Given the description of an element on the screen output the (x, y) to click on. 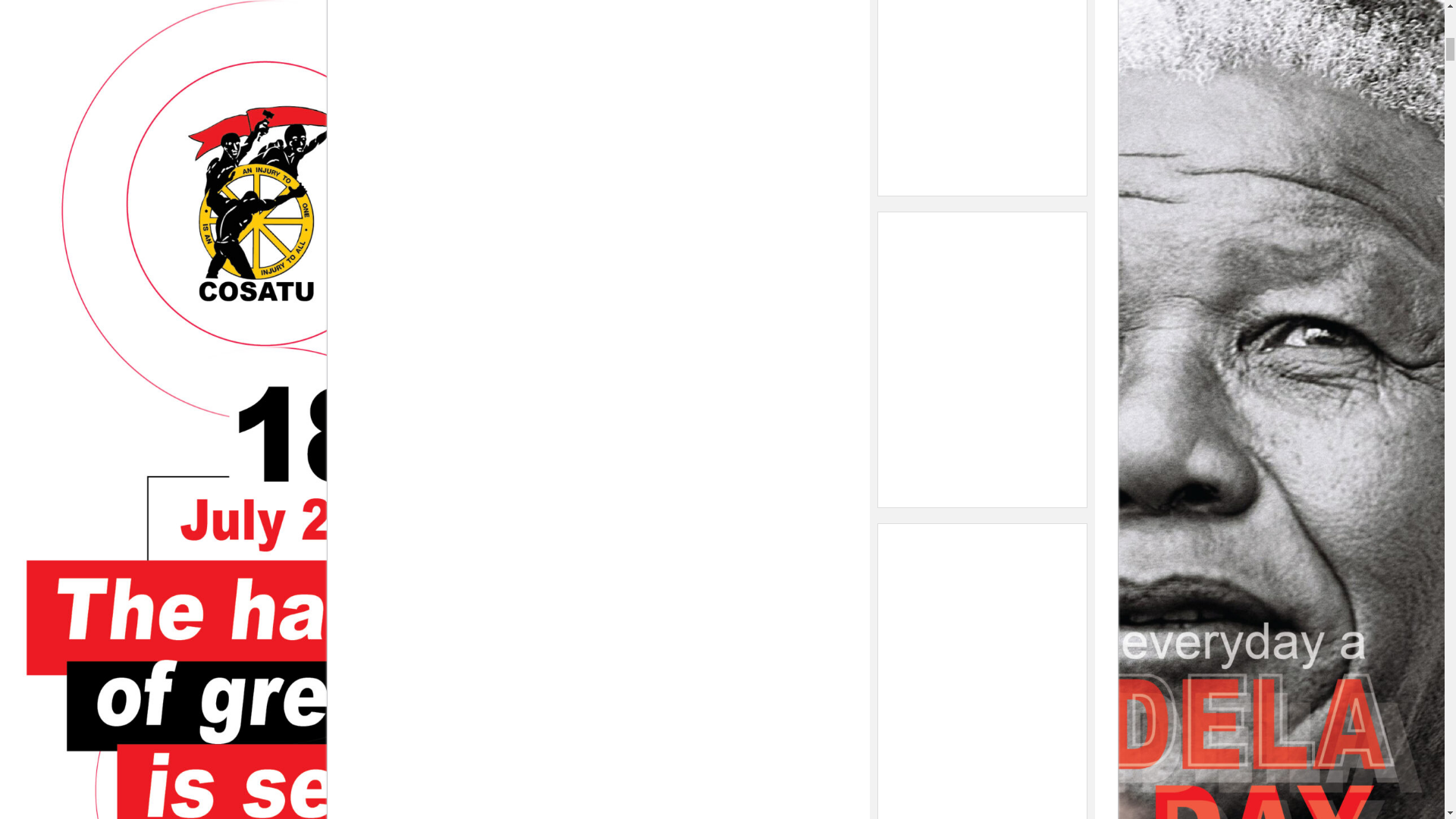
DPE workers await verdict on their jobs: Mike Shingange (981, 669)
Cosatu disappointed by slow pace of workplace transformation (981, 357)
Sadtu calls on cooperation to ensure learner safety (981, 88)
